Given the description of an element on the screen output the (x, y) to click on. 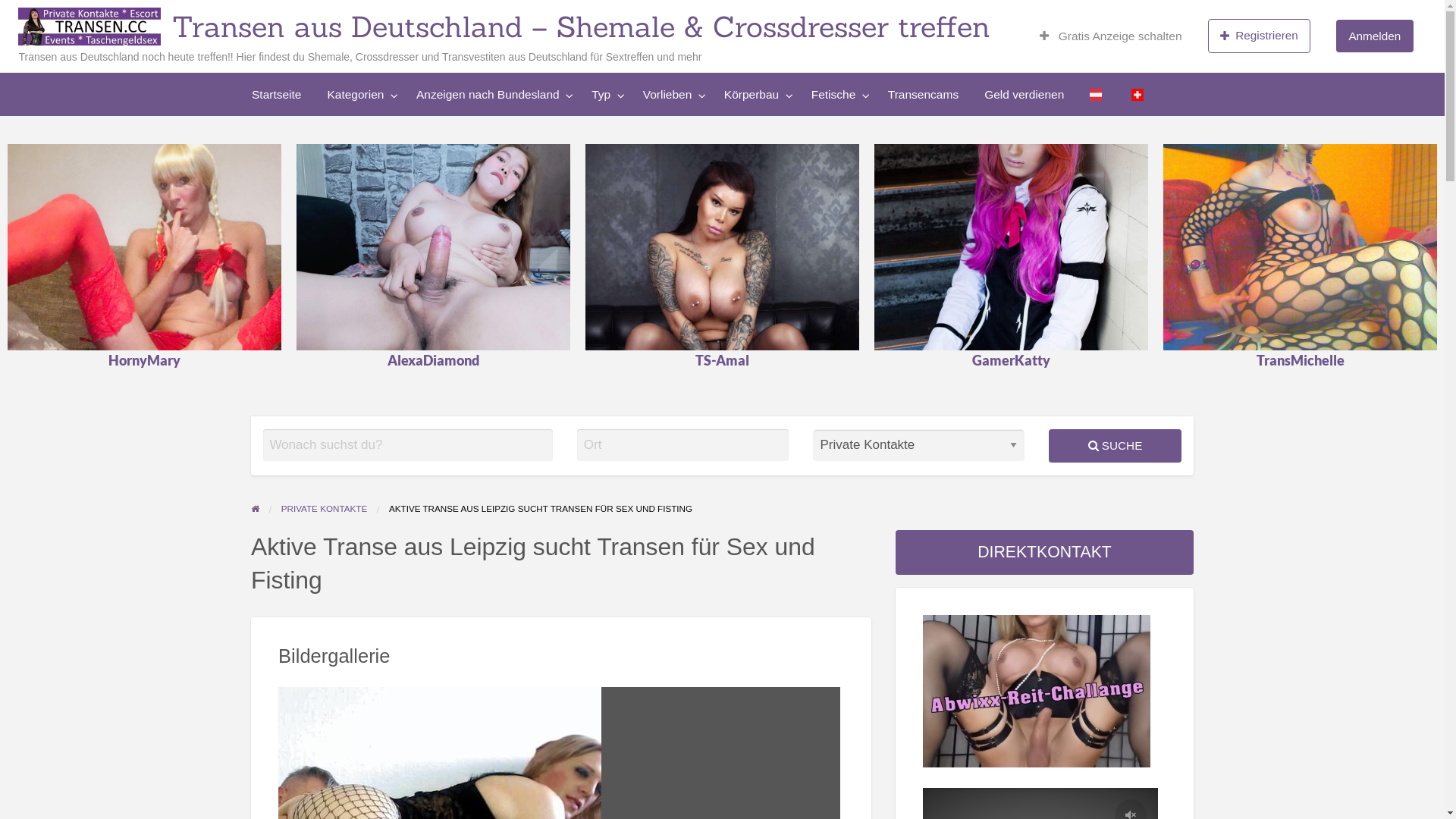
Vorlieben Element type: text (670, 94)
Anmelden Element type: text (1374, 35)
Geld verdienen Element type: text (571, 125)
Fetische Element type: text (378, 125)
GamerKatty Element type: text (1011, 303)
Sexy Transgirl aus Dusseldorf sucht sexspass und du ? :) Element type: hover (1300, 246)
Registrieren Element type: text (1259, 35)
Registrieren Element type: text (1259, 35)
TS-Amal Element type: text (722, 303)
Typ Element type: text (124, 125)
SUCHE Element type: text (1114, 445)
Typ Element type: text (603, 94)
AlexaDiamond Element type: text (433, 303)
TransMichelle Element type: text (1300, 303)
Anzeigen nach Bundesland Element type: text (490, 94)
PRIVATE KONTAKTE Element type: text (324, 508)
Transencams Element type: text (923, 94)
Anmelden Element type: text (1374, 35)
Kategorien Element type: text (357, 94)
Gratis Anzeige schalten Element type: text (1110, 35)
HornyMary Element type: text (144, 303)
Vorlieben Element type: text (195, 125)
Fetische Element type: text (836, 94)
Startseite Element type: text (275, 94)
Transencams Element type: text (474, 125)
DIREKTKONTAKT Element type: text (1044, 552)
Geld verdienen Element type: text (1023, 94)
